Given the description of an element on the screen output the (x, y) to click on. 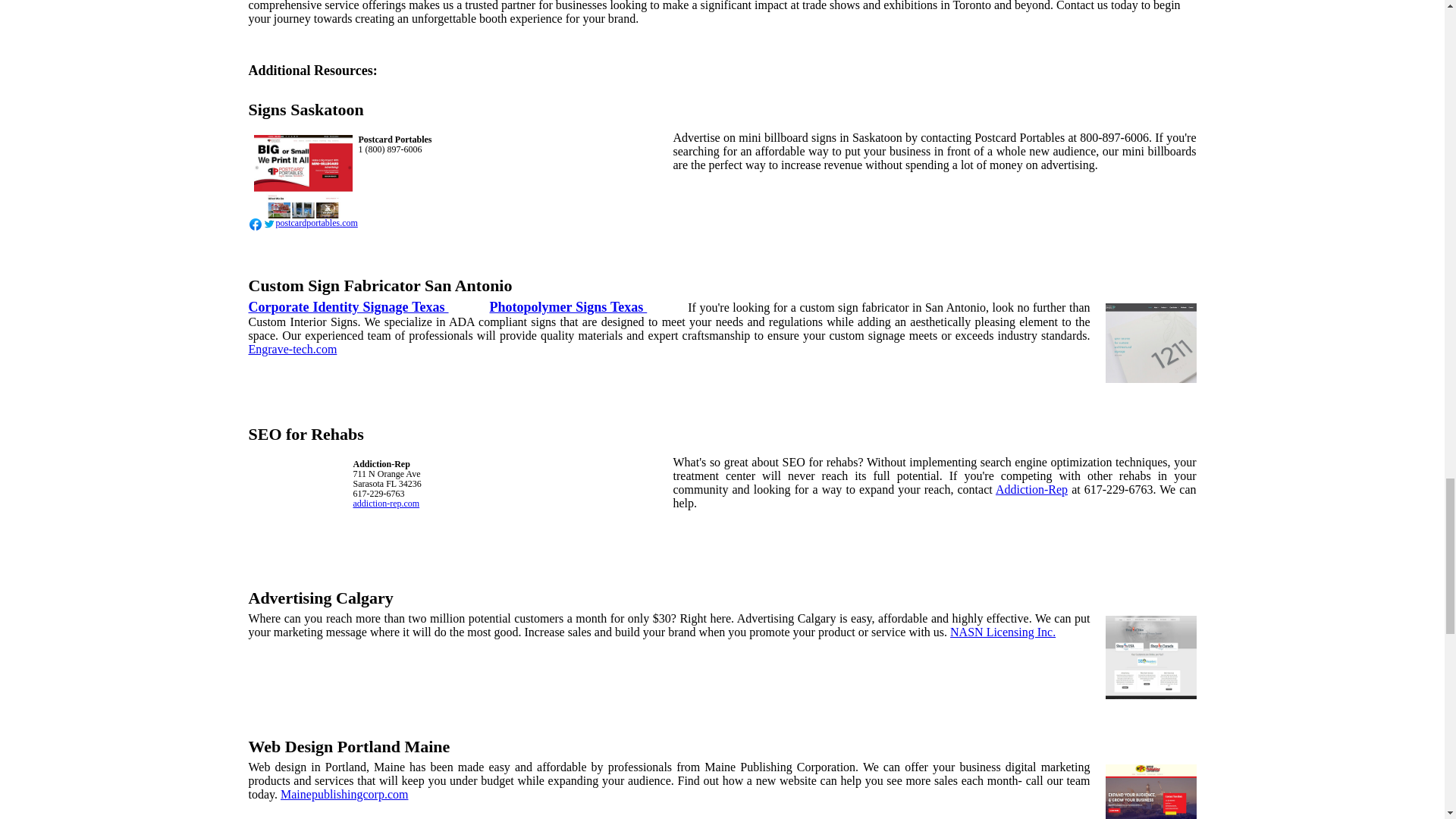
Custom Sign Fabricator San Antonio (722, 285)
Signs Saskatoon - Follow us on Twitter (269, 224)
Custom Sign Fabricator San Antonio (722, 285)
postcardportables.com (317, 223)
Engrave-tech.com (292, 349)
Web Design Portland Maine (722, 746)
Corporate Identity Signage Texas (348, 306)
Signs Saskatoon (722, 109)
Advertising Calgary (722, 598)
addiction-rep.com (386, 503)
Photopolymer Signs Texas (568, 306)
SEO for rehabs (722, 434)
SEO for Rehabs (722, 434)
Signs Saskatoon (722, 109)
Signs Saskatoon - Follow us on Facebook (255, 224)
